Given the description of an element on the screen output the (x, y) to click on. 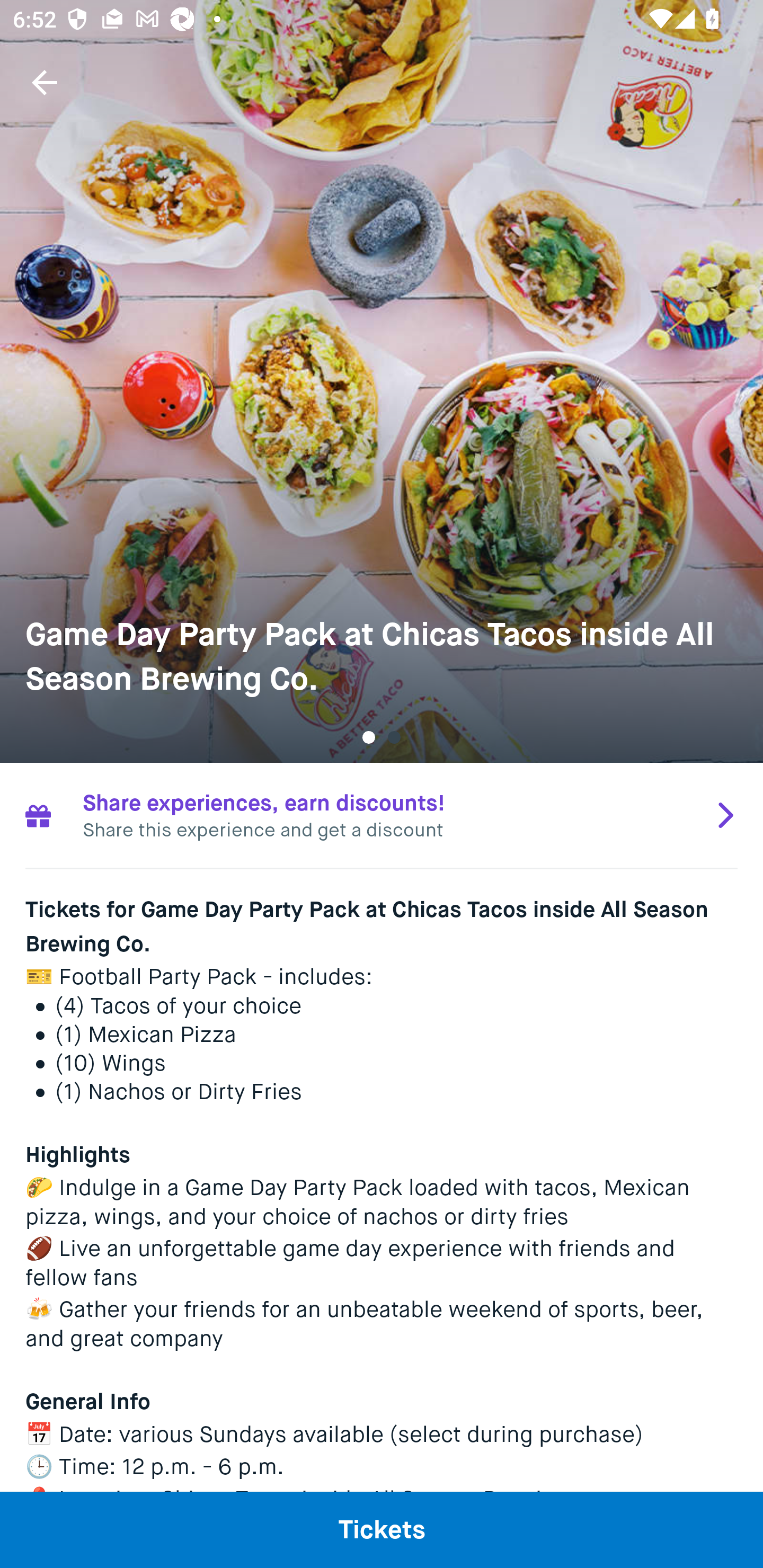
Navigate up (44, 82)
Tickets (381, 1529)
